Given the description of an element on the screen output the (x, y) to click on. 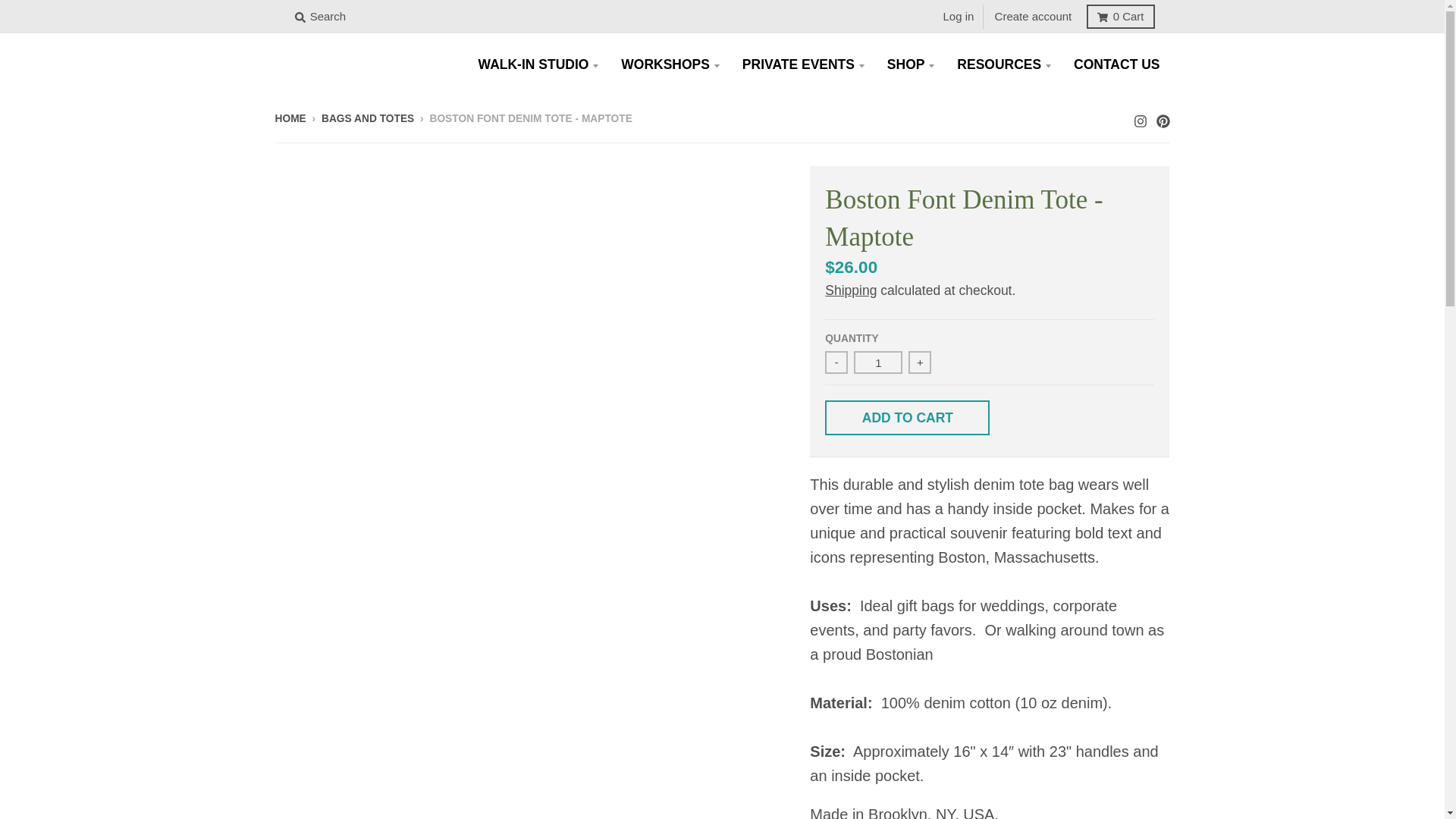
Instagram - Studio by Garden Streets (1139, 117)
Create account (1033, 16)
SHOP (910, 64)
1 (877, 362)
WALK-IN STUDIO (538, 64)
Search (319, 16)
Back to the frontpage (290, 118)
0 Cart (1120, 16)
Pinterest - Studio by Garden Streets (1162, 117)
PRIVATE EVENTS (802, 64)
WORKSHOPS (670, 64)
Log in (958, 16)
